Given the description of an element on the screen output the (x, y) to click on. 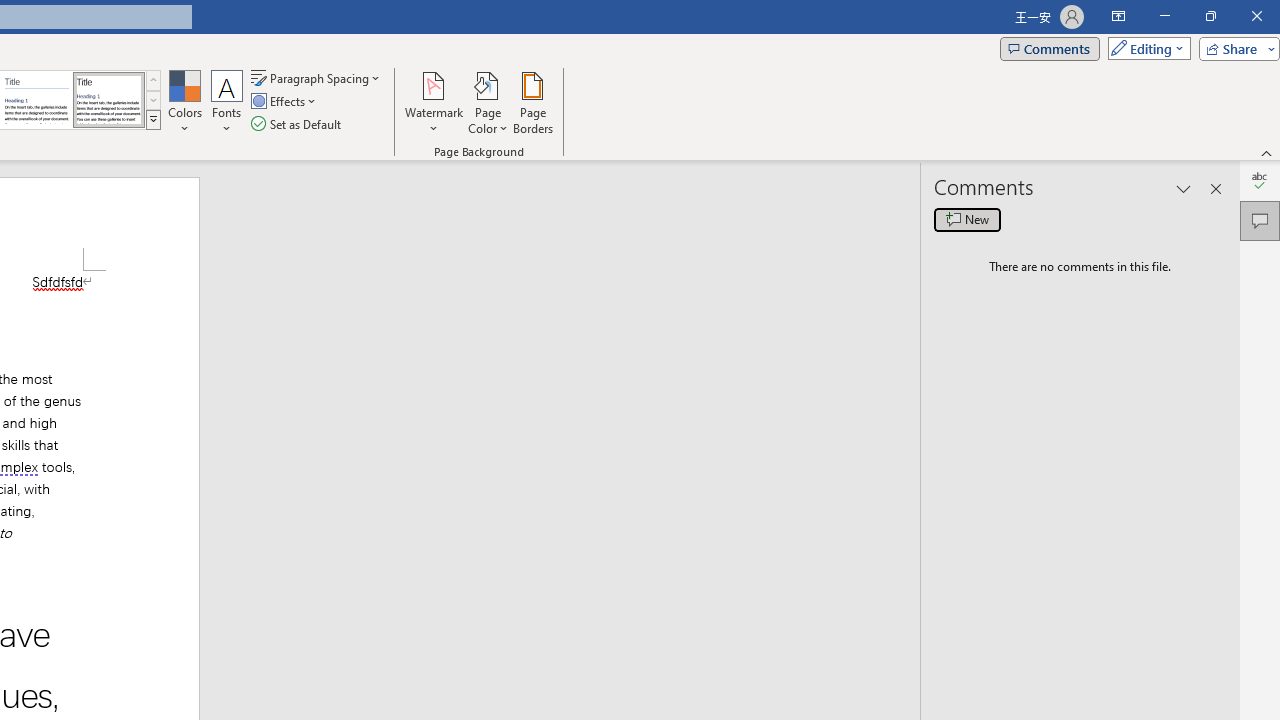
Page Color (487, 102)
Page Borders... (532, 102)
Word 2010 (36, 100)
Paragraph Spacing (317, 78)
Fonts (227, 102)
Word 2013 (108, 100)
